Given the description of an element on the screen output the (x, y) to click on. 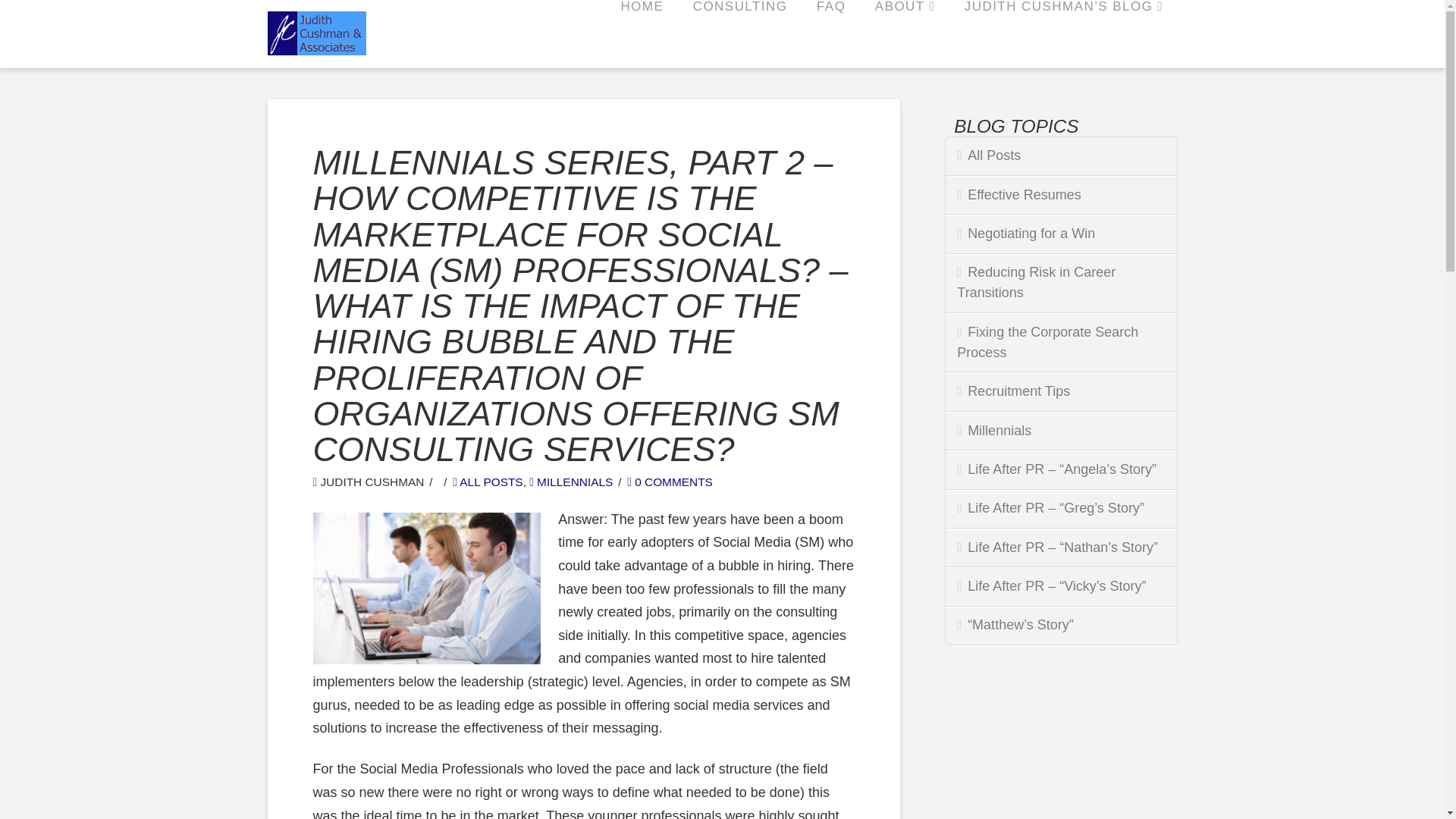
Reducing Risk in Career Transitions (1060, 282)
ABOUT (904, 33)
All Posts (1060, 156)
HOME (641, 33)
Negotiating for a Win (1060, 233)
Fixing the Corporate Search Process (1060, 342)
Effective Resumes (1060, 195)
MILLENNIALS (570, 481)
0 COMMENTS (670, 481)
CONSULTING (740, 33)
ALL POSTS (487, 481)
